Given the description of an element on the screen output the (x, y) to click on. 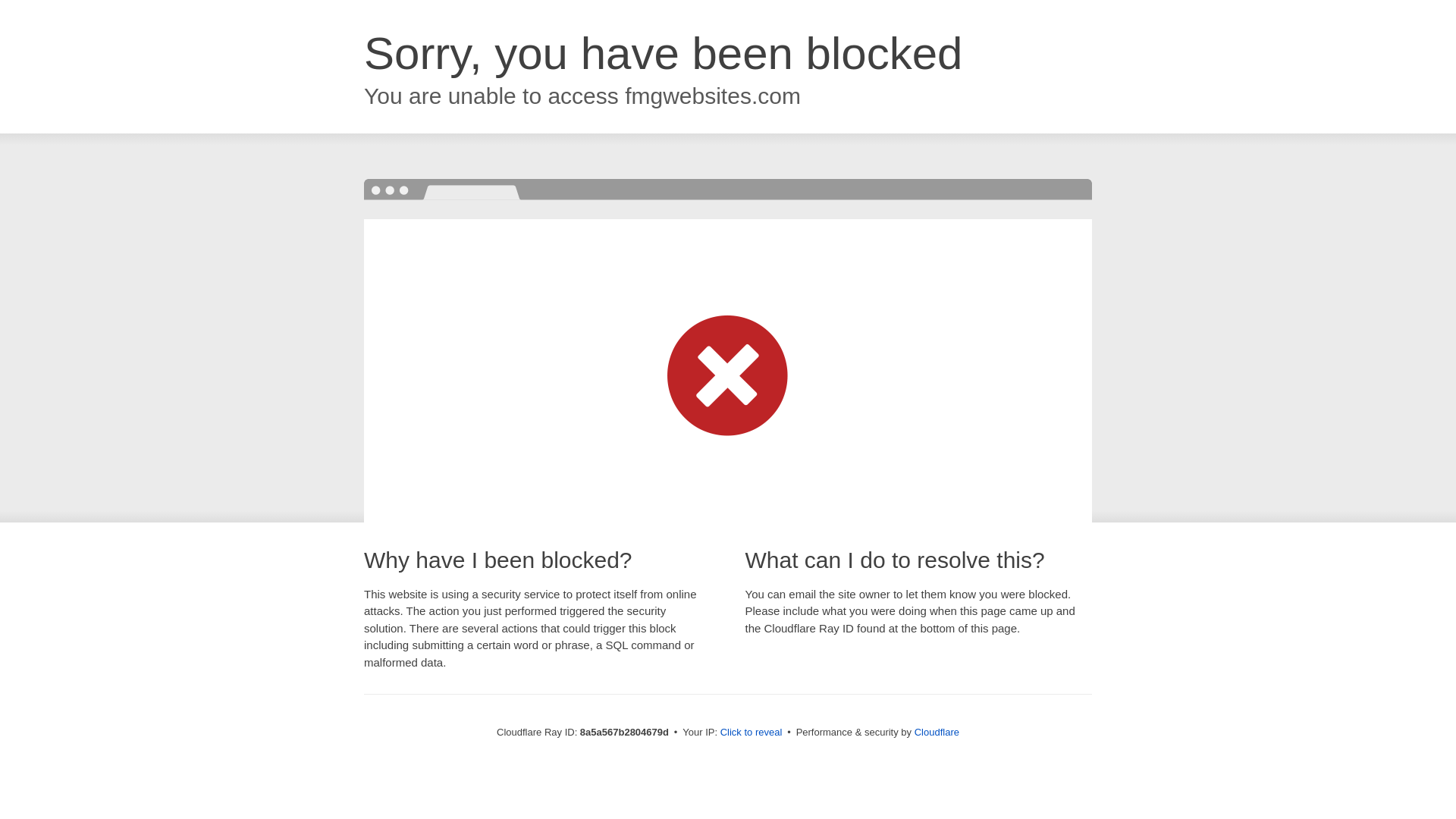
Cloudflare (936, 731)
Click to reveal (751, 732)
